Given the description of an element on the screen output the (x, y) to click on. 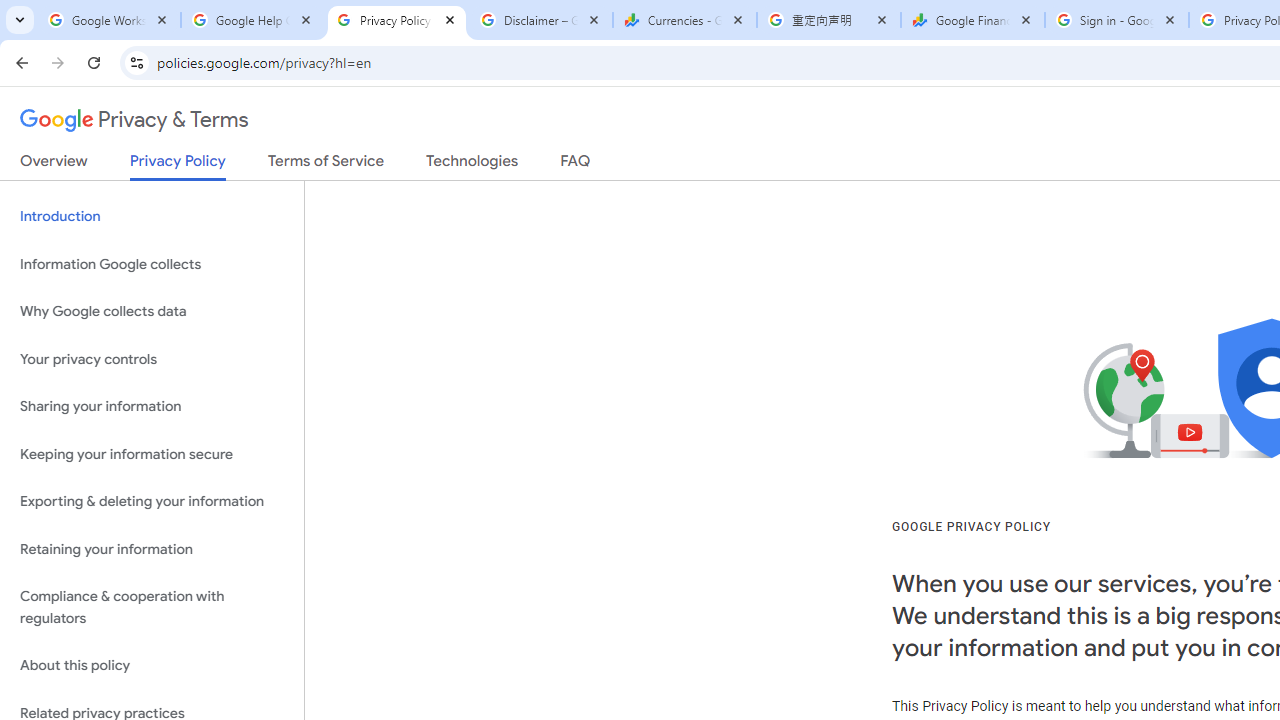
About this policy (152, 666)
Compliance & cooperation with regulators (152, 607)
Information Google collects (152, 263)
Keeping your information secure (152, 453)
Exporting & deleting your information (152, 502)
Sign in - Google Accounts (1116, 20)
Google Workspace Admin Community (108, 20)
